Given the description of an element on the screen output the (x, y) to click on. 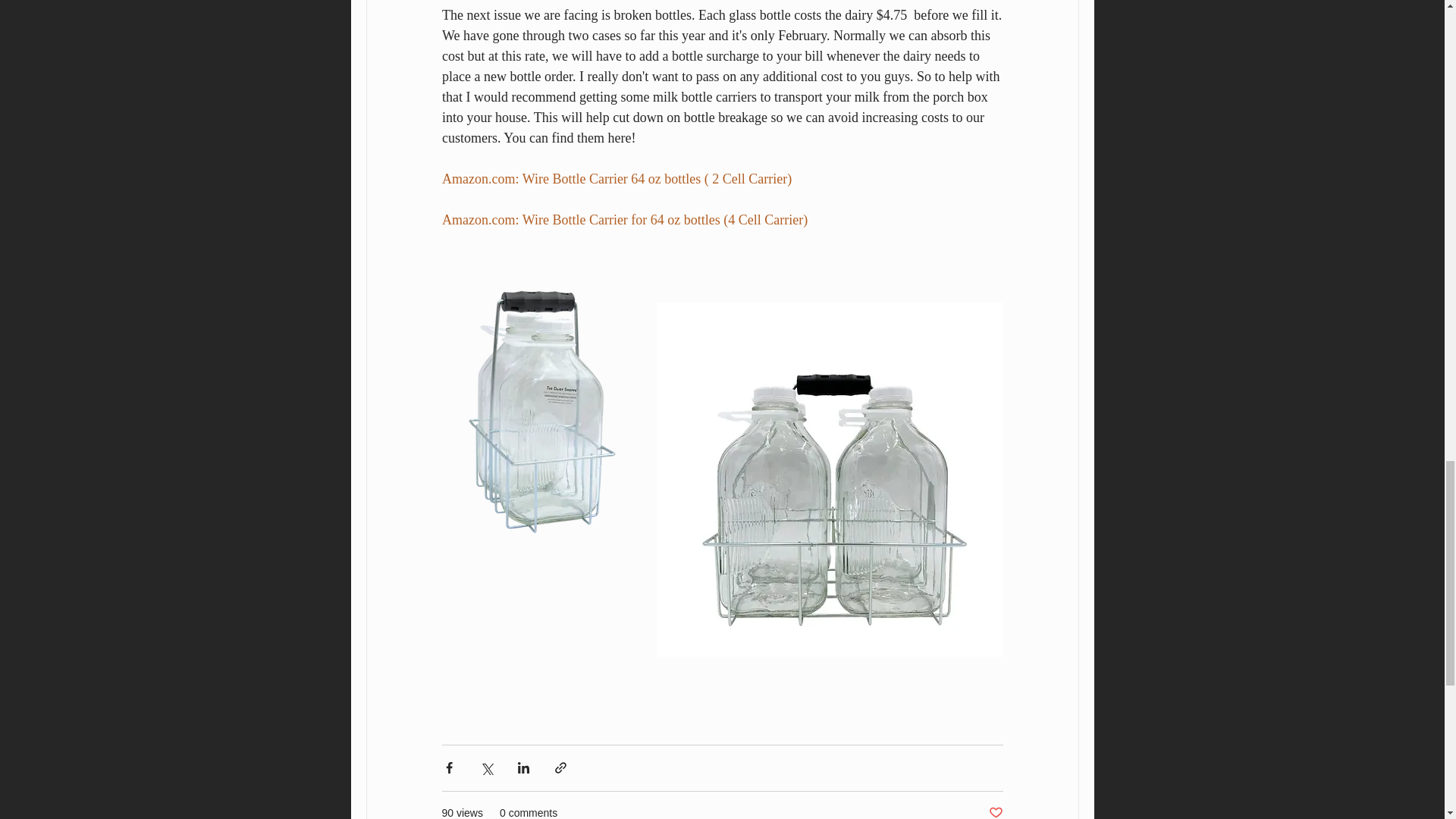
Post not marked as liked (995, 812)
